Given the description of an element on the screen output the (x, y) to click on. 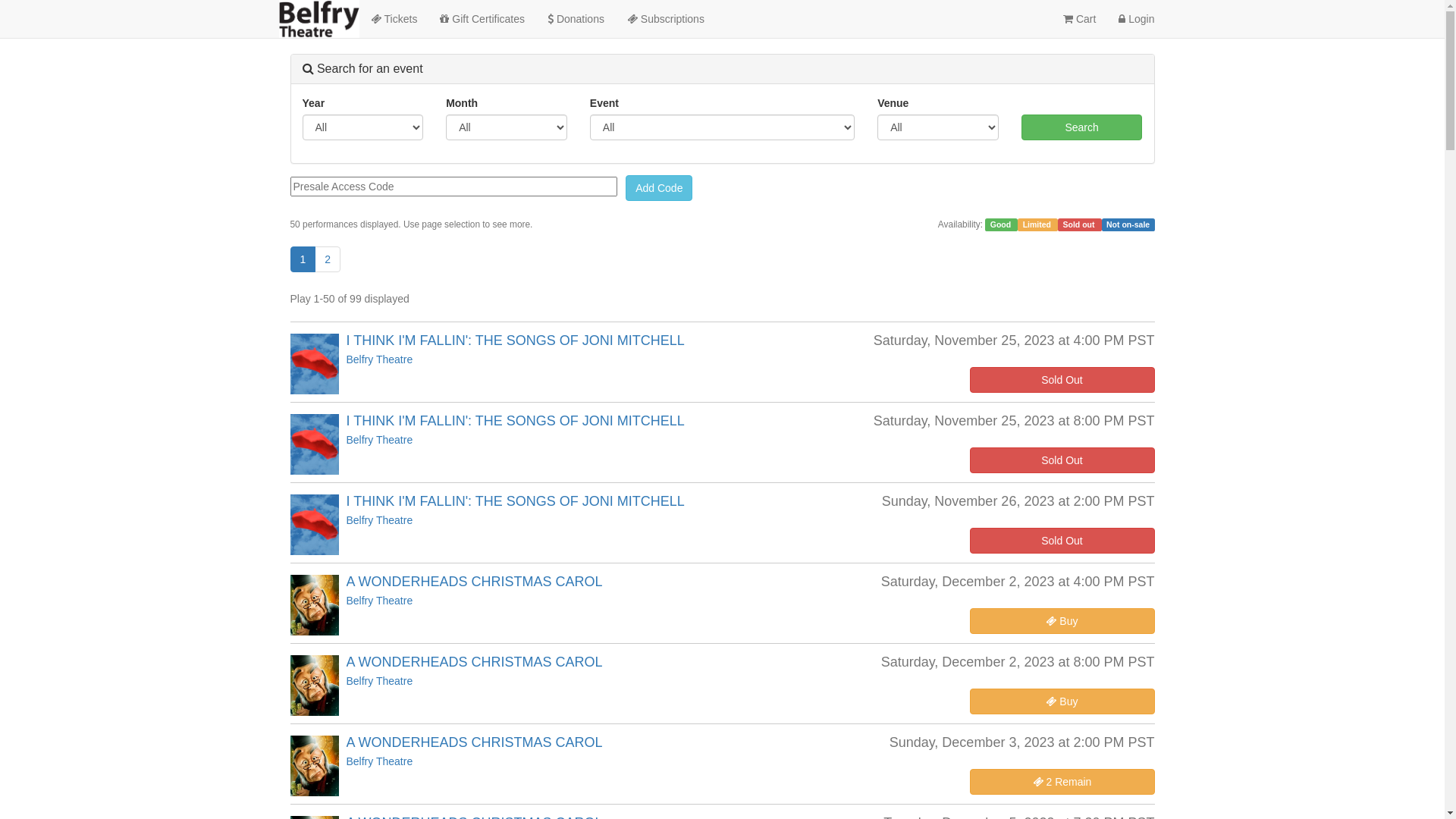
A WONDERHEADS CHRISTMAS CAROL Element type: text (473, 581)
A WONDERHEADS CHRISTMAS CAROL Element type: text (473, 741)
Belfry Theatre Element type: text (378, 680)
Login Element type: text (1136, 18)
2 Remain Element type: text (1061, 781)
2 Element type: text (327, 259)
A WONDERHEADS CHRISTMAS CAROL Element type: text (473, 661)
Belfry Theatre Element type: text (378, 359)
Belfry Theatre Element type: text (378, 439)
Belfry Theatre Element type: text (378, 600)
Search Element type: text (1081, 127)
Cart Element type: text (1079, 18)
Add Code Element type: text (658, 187)
Sold Out Element type: text (1061, 379)
Sold Out Element type: text (1061, 460)
Belfry Theatre Element type: text (378, 520)
Buy Element type: text (1061, 701)
Tickets Element type: text (393, 18)
Belfry Theatre Element type: text (378, 761)
Buy Element type: text (1061, 620)
Sold Out Element type: text (1061, 540)
I THINK I'M FALLIN': THE SONGS OF JONI MITCHELL Element type: text (514, 500)
Search for an event Element type: text (361, 68)
I THINK I'M FALLIN': THE SONGS OF JONI MITCHELL Element type: text (514, 420)
Subscriptions Element type: text (665, 18)
Gift Certificates Element type: text (482, 18)
I THINK I'M FALLIN': THE SONGS OF JONI MITCHELL Element type: text (514, 340)
Donations Element type: text (575, 18)
1 Element type: text (302, 259)
